Given the description of an element on the screen output the (x, y) to click on. 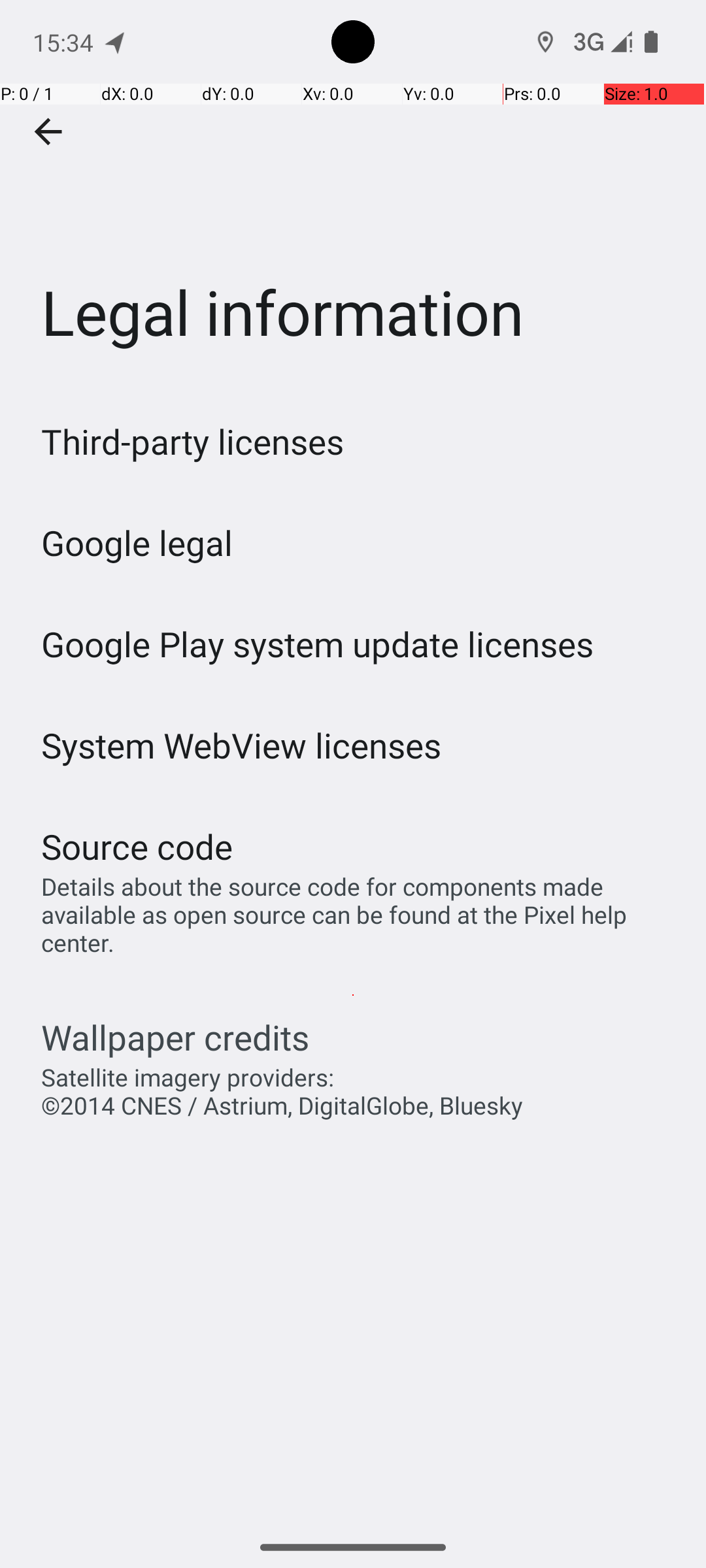
Legal information Element type: android.widget.FrameLayout (353, 195)
Third-party licenses Element type: android.widget.TextView (192, 441)
Google legal Element type: android.widget.TextView (136, 542)
Google Play system update licenses Element type: android.widget.TextView (317, 643)
System WebView licenses Element type: android.widget.TextView (241, 744)
Source code Element type: android.widget.TextView (136, 846)
Details about the source code for components made available as open source can be found at the Pixel help center. Element type: android.widget.TextView (359, 914)
Wallpaper credits Element type: android.widget.TextView (175, 1036)
Satellite imagery providers:
©2014 CNES / Astrium, DigitalGlobe, Bluesky Element type: android.widget.TextView (281, 1090)
